Given the description of an element on the screen output the (x, y) to click on. 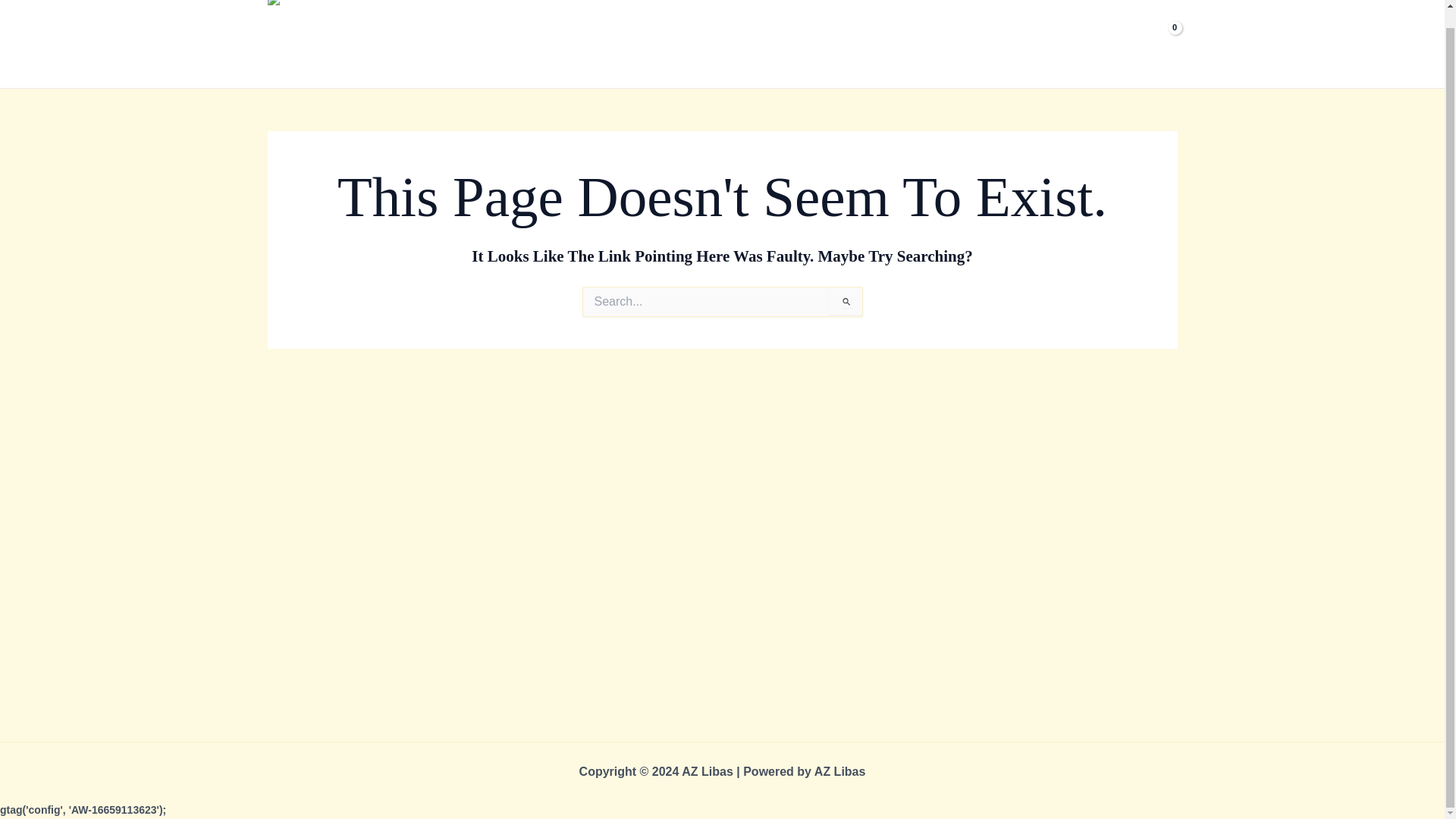
Search (844, 300)
Search (844, 300)
Casual Wear (741, 34)
Search (844, 300)
New Arrivals (656, 34)
Home (588, 34)
Clearance Sale (832, 34)
